Given the description of an element on the screen output the (x, y) to click on. 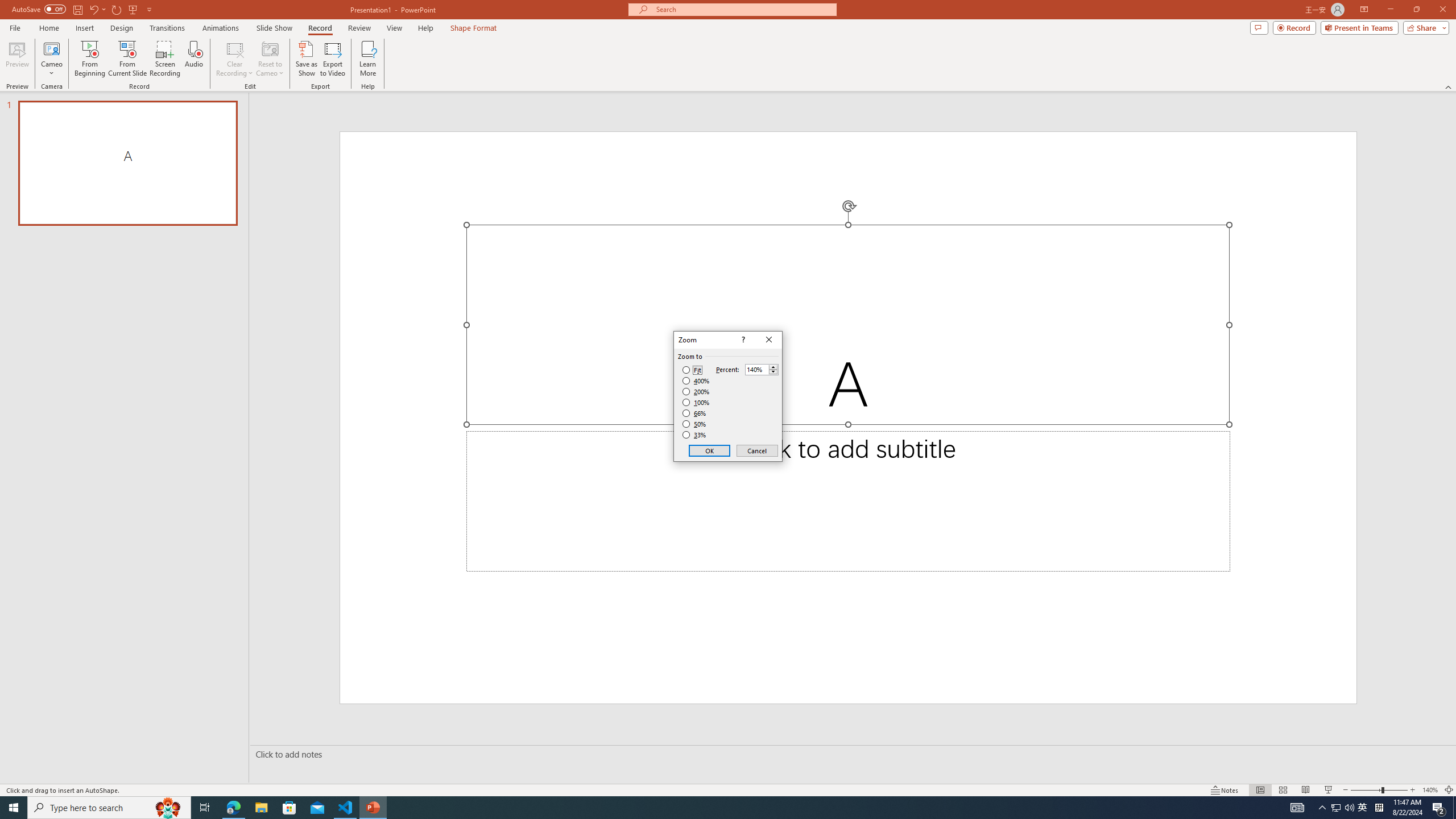
From Current Slide... (127, 58)
50% (694, 424)
400% (696, 380)
Cancel (756, 450)
